Given the description of an element on the screen output the (x, y) to click on. 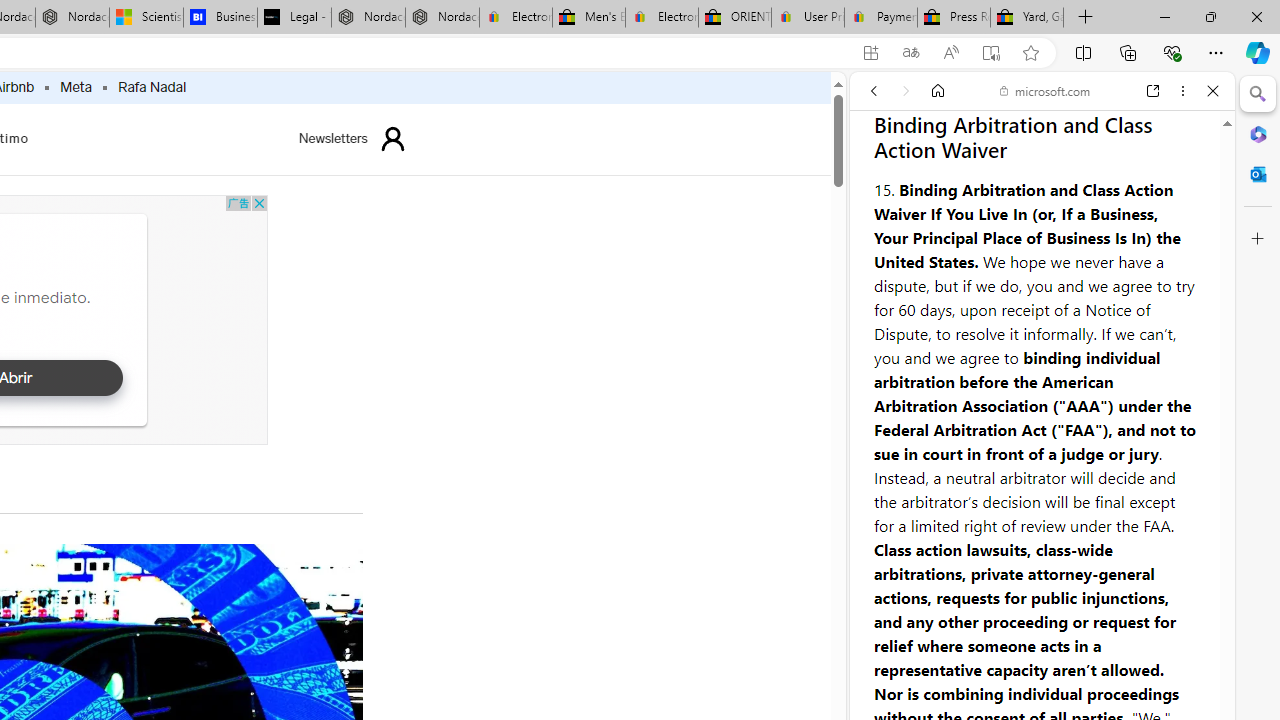
Newsletters (333, 138)
